Given the description of an element on the screen output the (x, y) to click on. 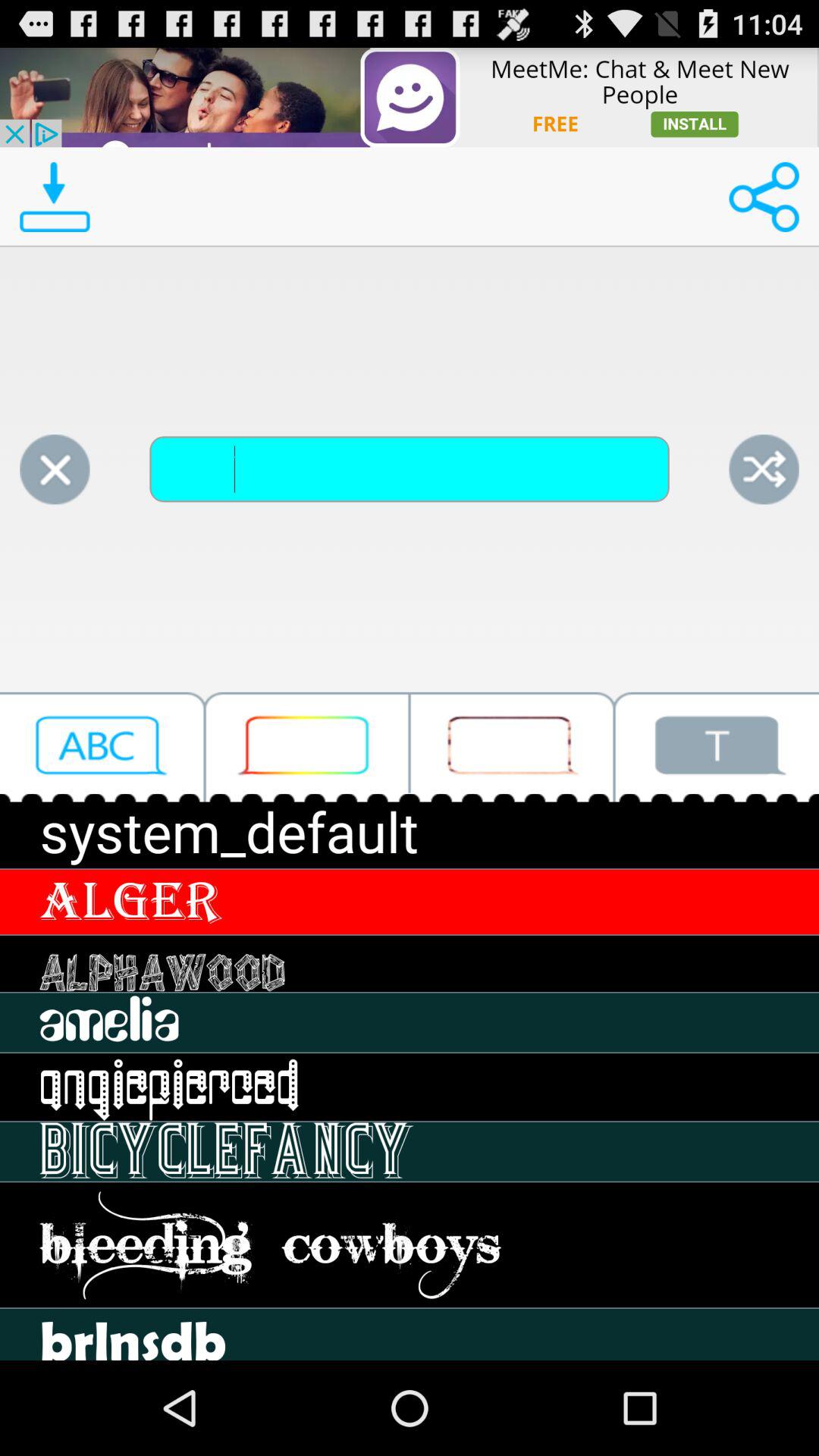
select option (306, 746)
